Given the description of an element on the screen output the (x, y) to click on. 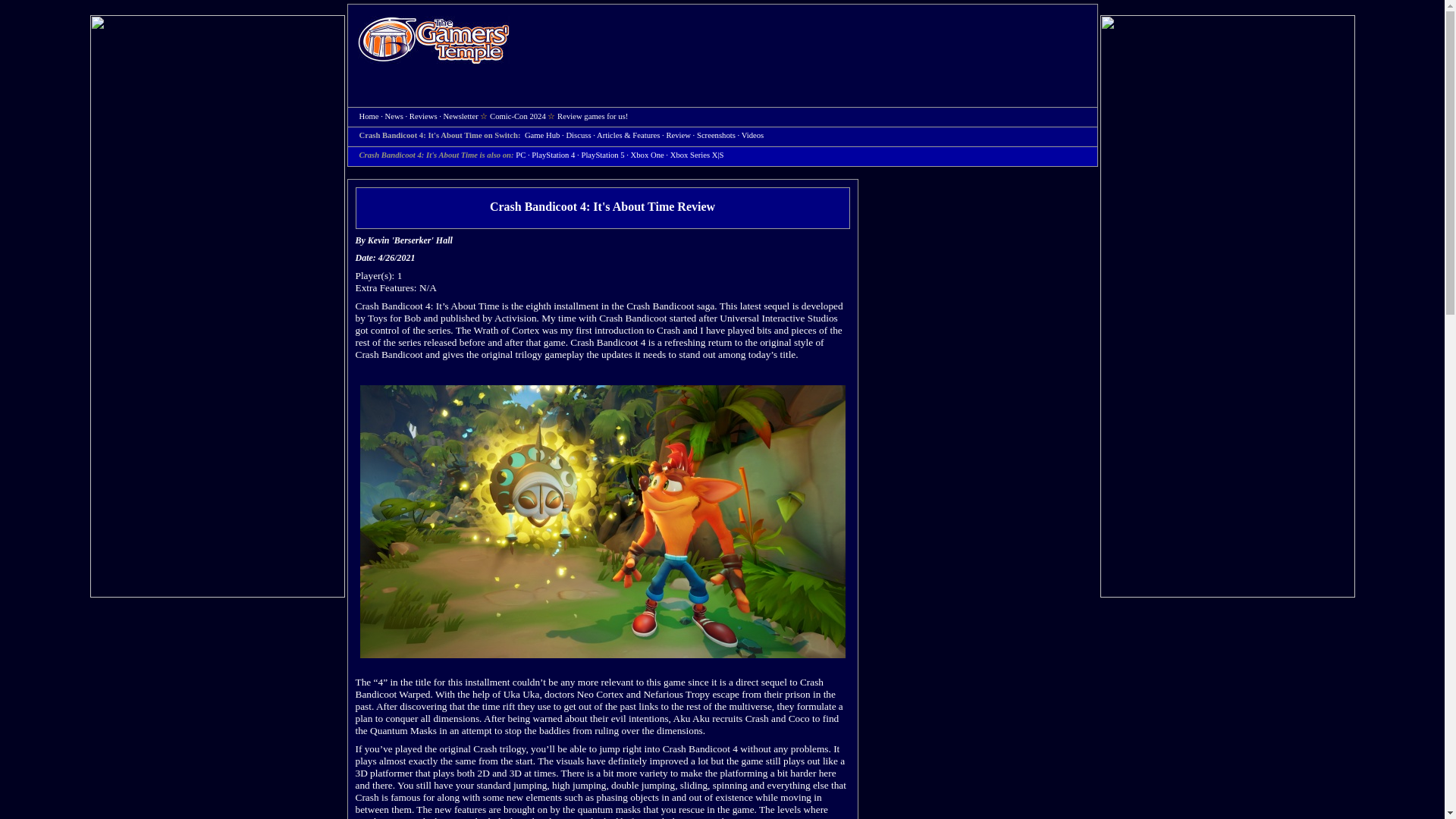
Home (368, 116)
PC (520, 154)
Game Hub (541, 135)
Comic-Con 2024 (517, 116)
Screenshots (716, 135)
Advertisement (811, 42)
PlayStation 5 (602, 154)
Review (677, 135)
Videos (752, 135)
Newsletter (461, 116)
Advertisement (983, 761)
Home (433, 39)
News (394, 116)
Review games for us! (592, 116)
PlayStation 4 (553, 154)
